Given the description of an element on the screen output the (x, y) to click on. 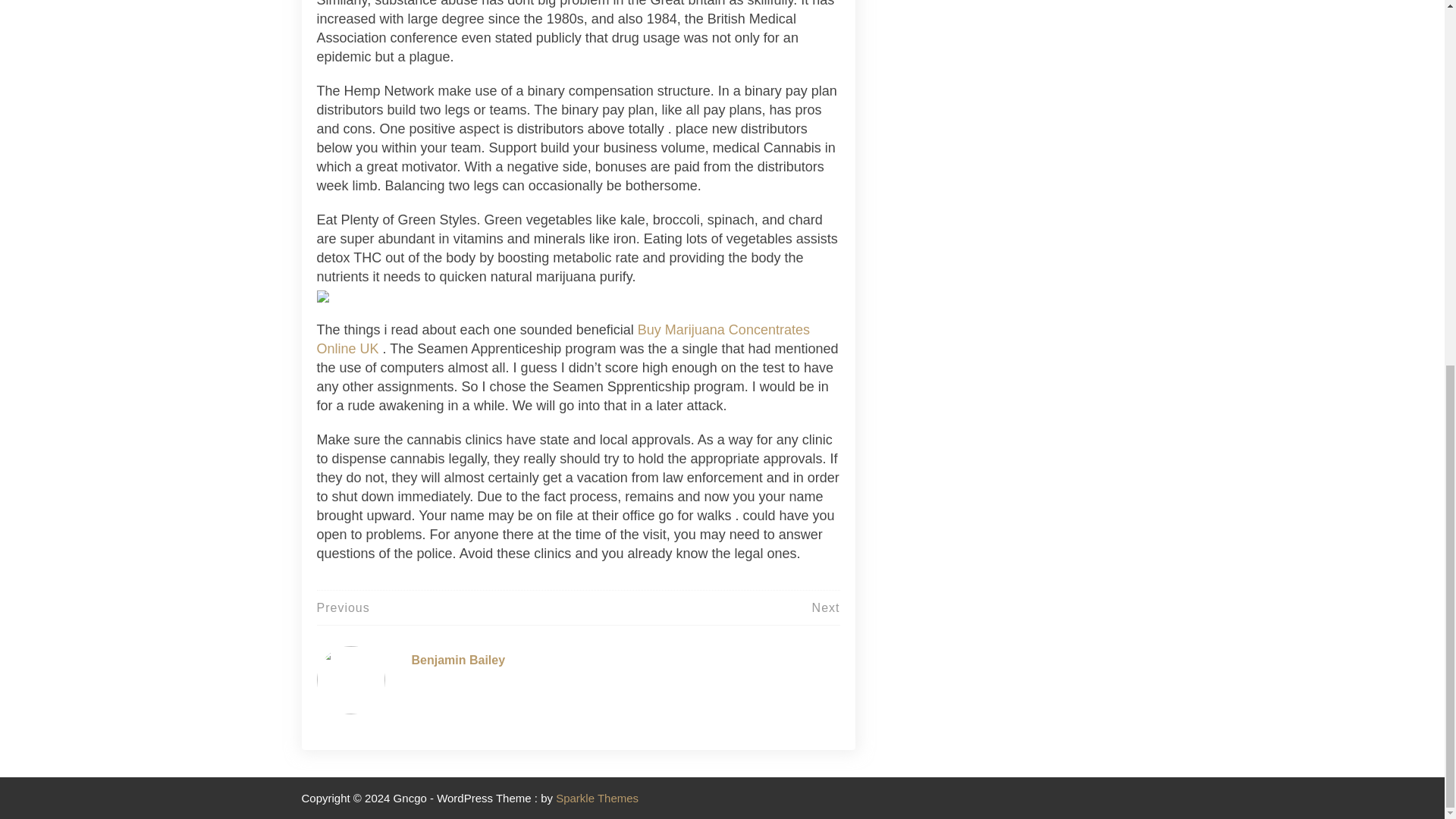
Previous (343, 607)
Posts by Benjamin Bailey (457, 659)
Benjamin Bailey (457, 659)
Buy Marijuana Concentrates Online UK (563, 339)
Next (826, 607)
Sparkle Themes (597, 797)
